Given the description of an element on the screen output the (x, y) to click on. 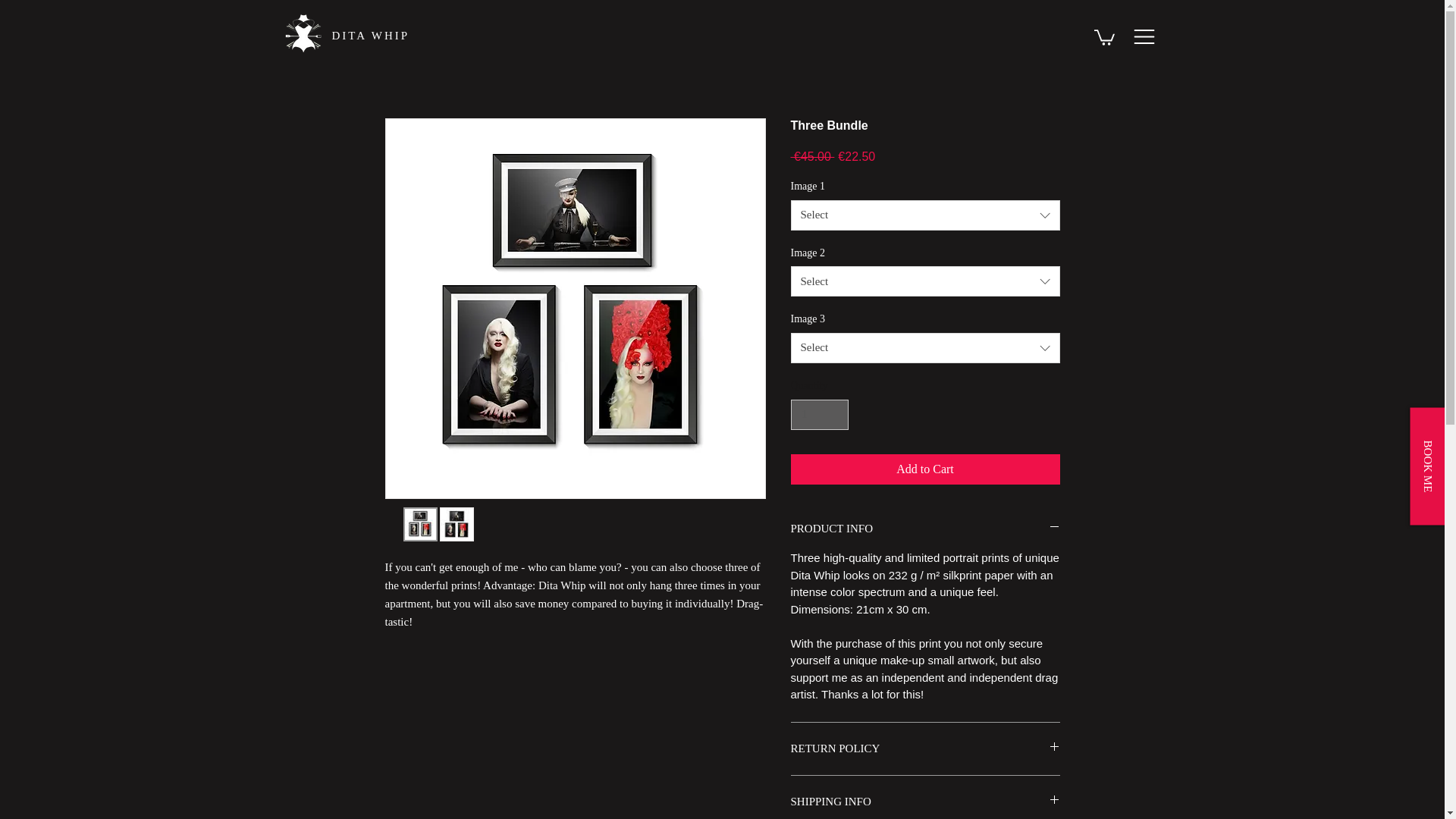
RETURN POLICY (924, 748)
SHIPPING INFO (924, 801)
Add to Cart (924, 469)
DITA WHIP (370, 35)
Select (924, 214)
Select (924, 281)
1 (818, 414)
Select (924, 347)
PRODUCT INFO (924, 528)
